Given the description of an element on the screen output the (x, y) to click on. 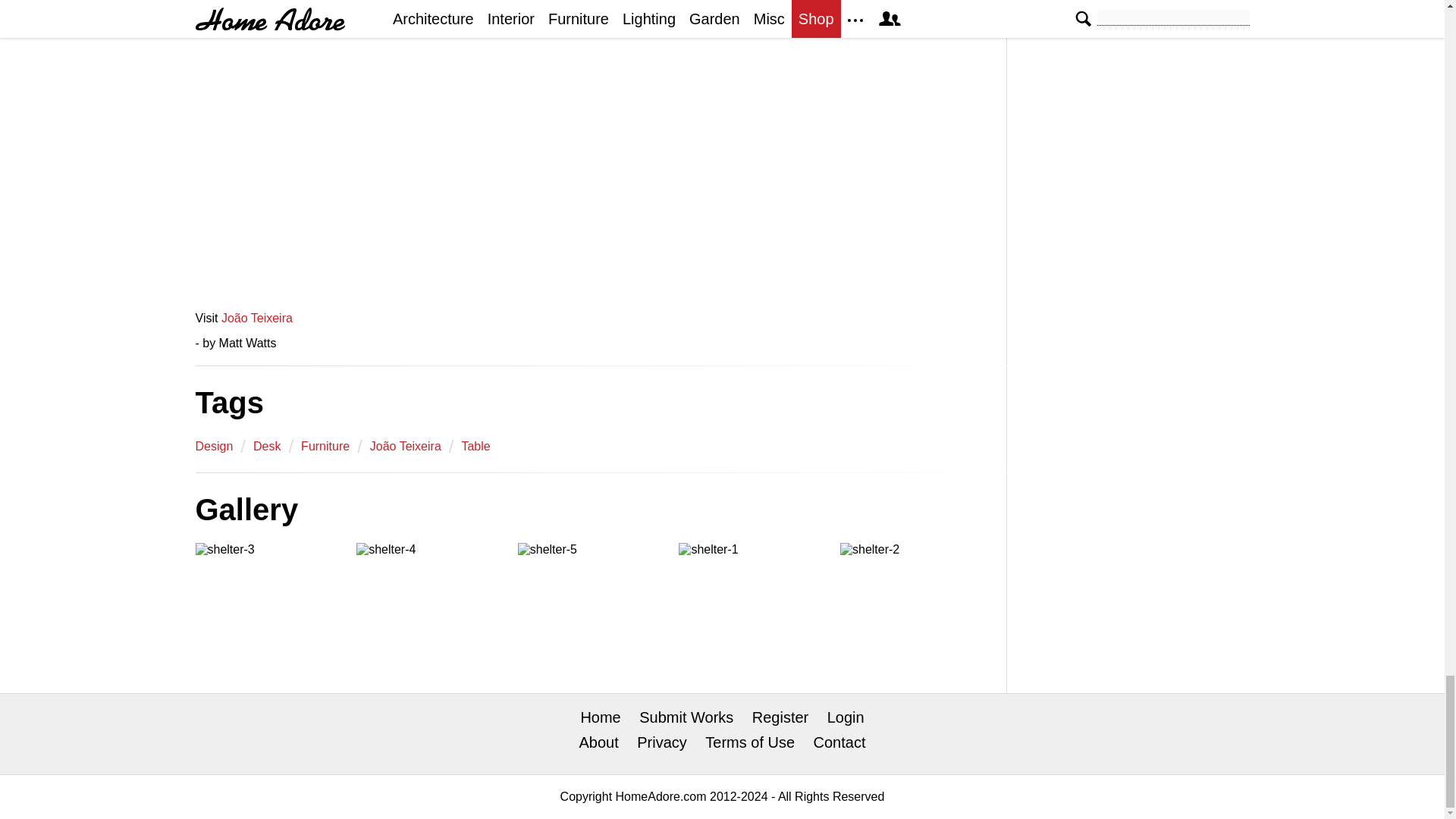
design (213, 446)
table (475, 446)
desk (267, 446)
furniture (325, 446)
